Given the description of an element on the screen output the (x, y) to click on. 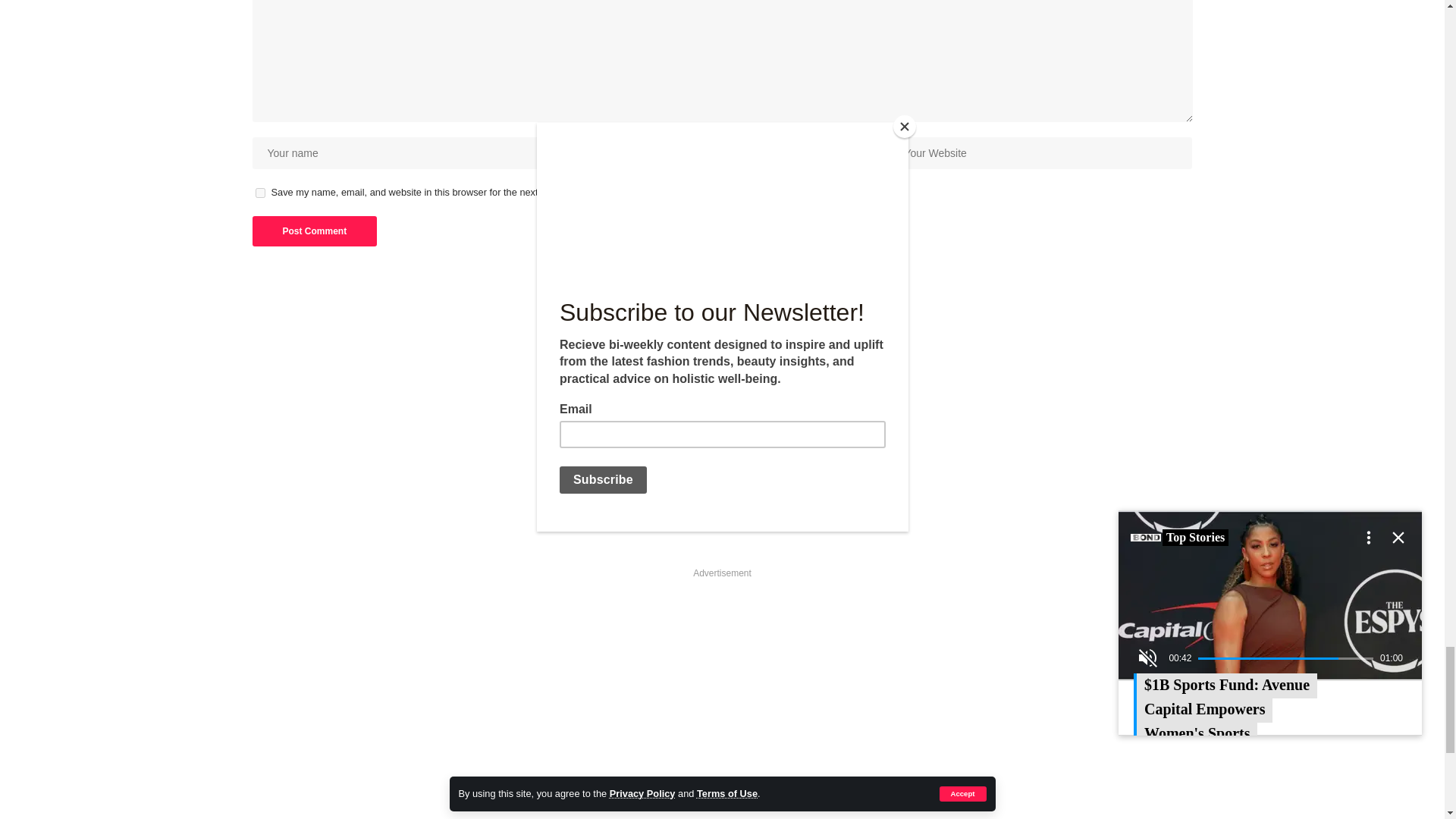
Post Comment (314, 231)
yes (259, 193)
